Given the description of an element on the screen output the (x, y) to click on. 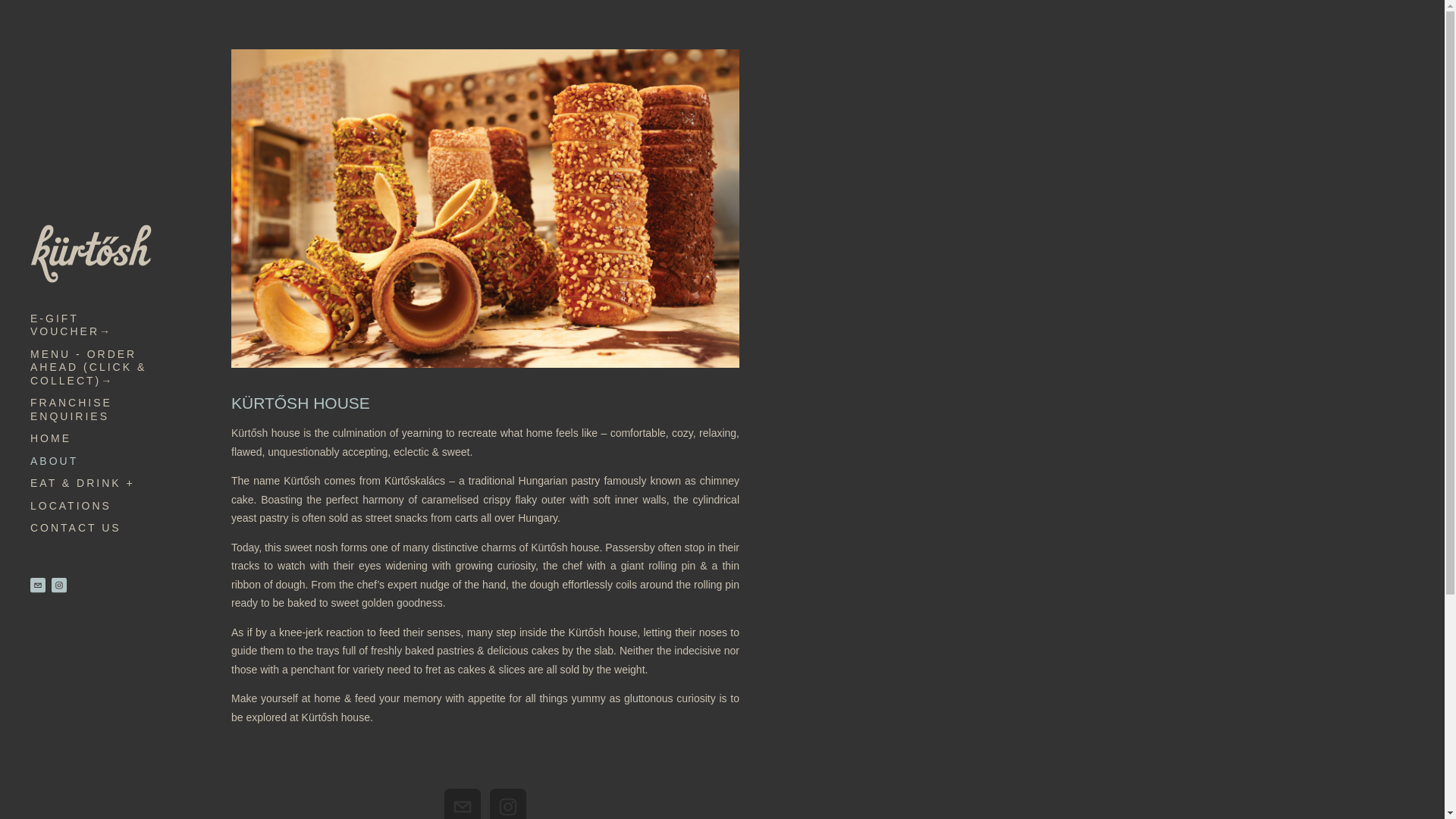
LOCATIONS Element type: text (90, 506)
MENU - ORDER AHEAD (CLICK & COLLECT) Element type: text (90, 367)
EAT & DRINK Element type: text (90, 483)
FRANCHISE ENQUIRIES Element type: text (90, 409)
HOME Element type: text (90, 438)
E-GIFT VOUCHER Element type: text (90, 325)
CONTACT US Element type: text (90, 528)
ABOUT Element type: text (90, 461)
